Given the description of an element on the screen output the (x, y) to click on. 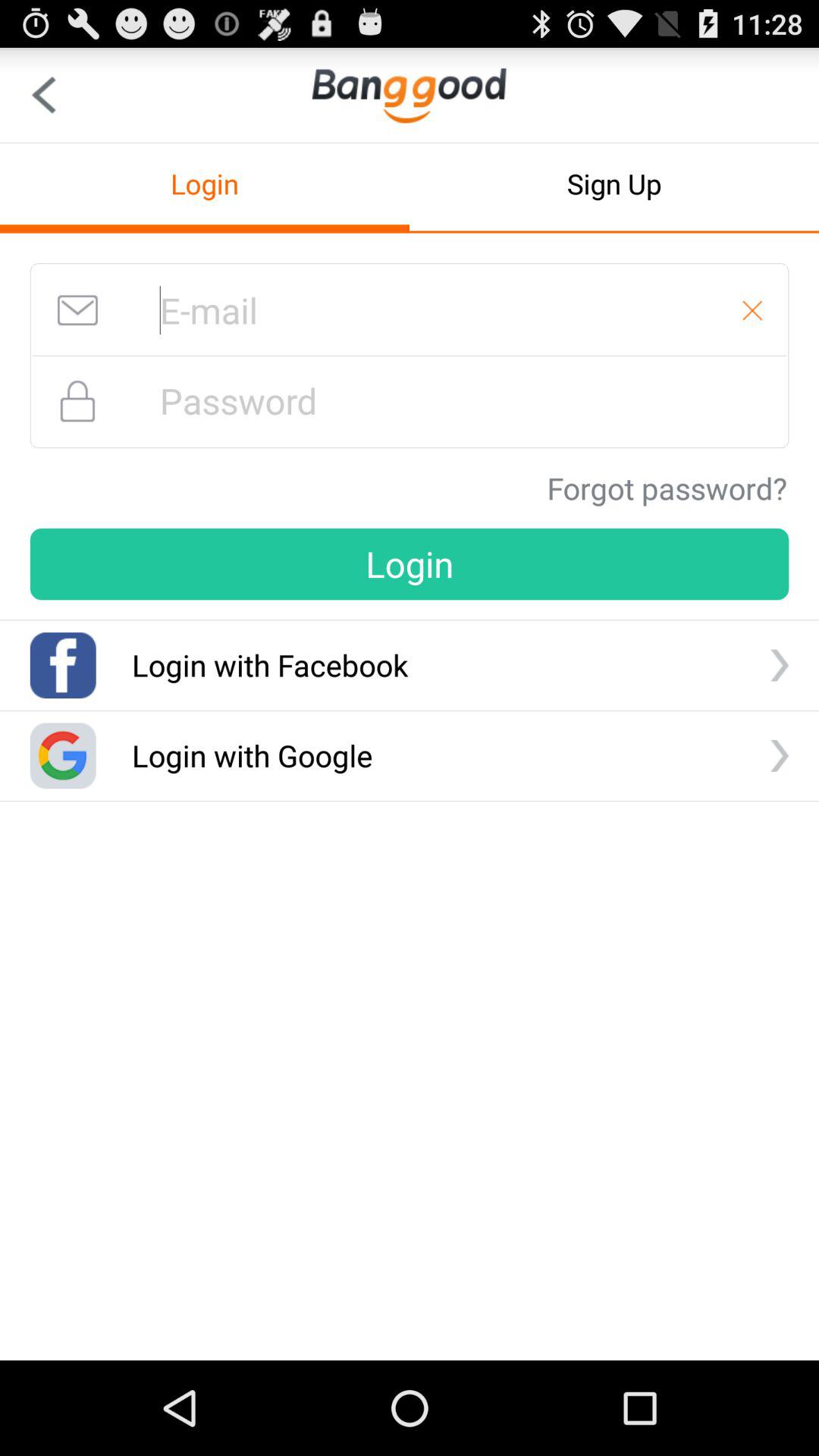
swipe until the forgot password? item (667, 488)
